Given the description of an element on the screen output the (x, y) to click on. 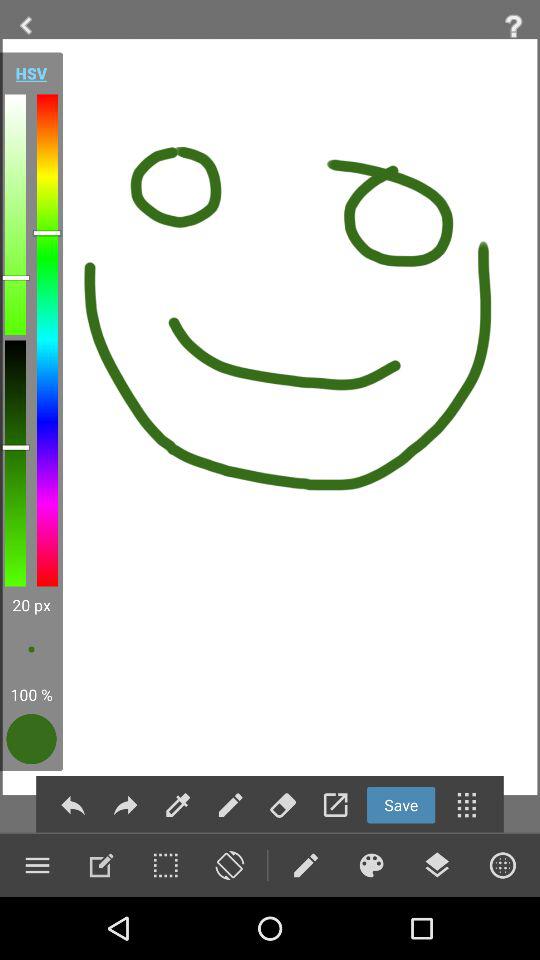
click edit text option (101, 865)
